Given the description of an element on the screen output the (x, y) to click on. 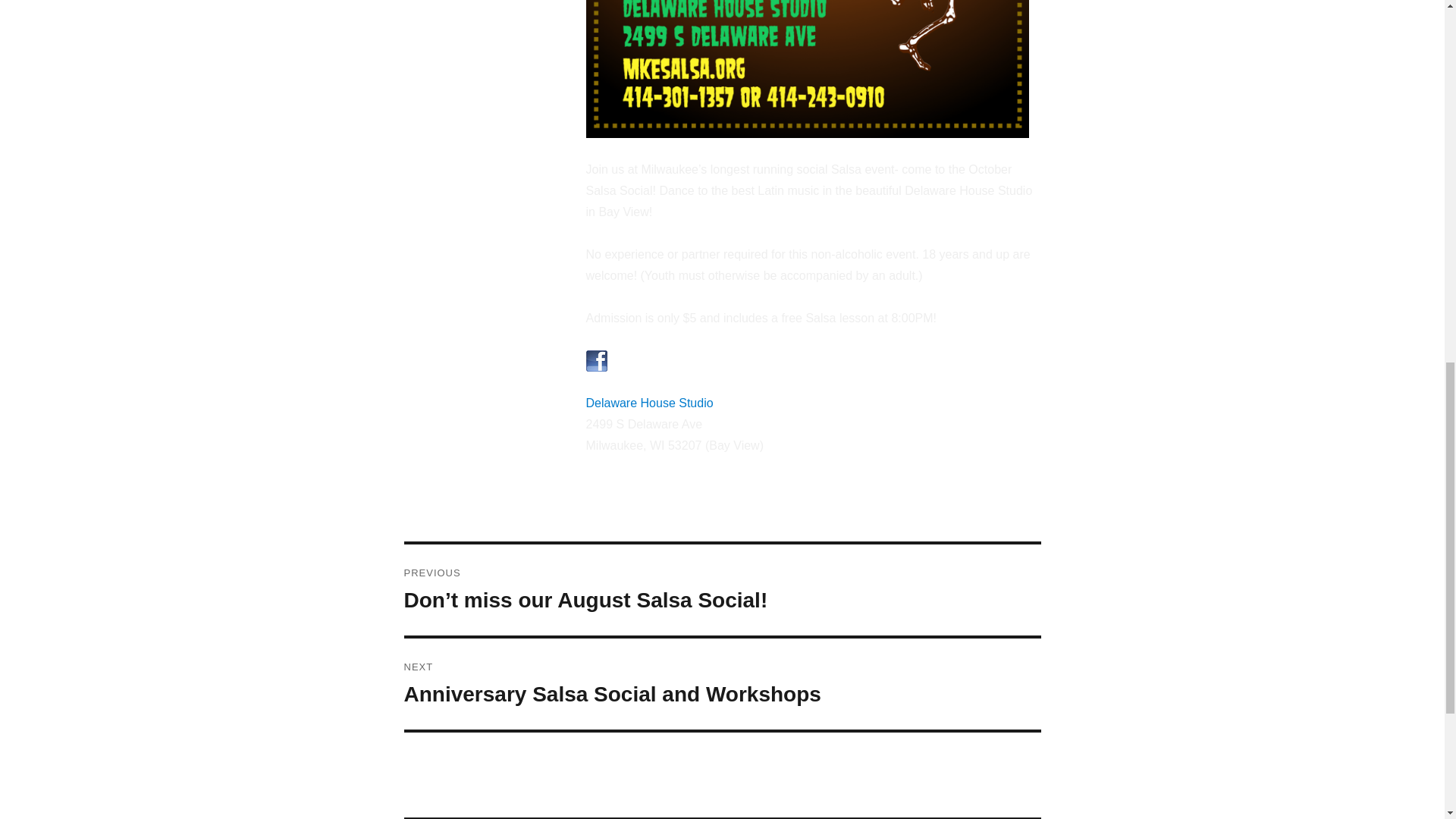
2012 10 Salsa Social - 3 (806, 69)
Delaware House Studio (649, 402)
Facebook RSVP (682, 360)
